Given the description of an element on the screen output the (x, y) to click on. 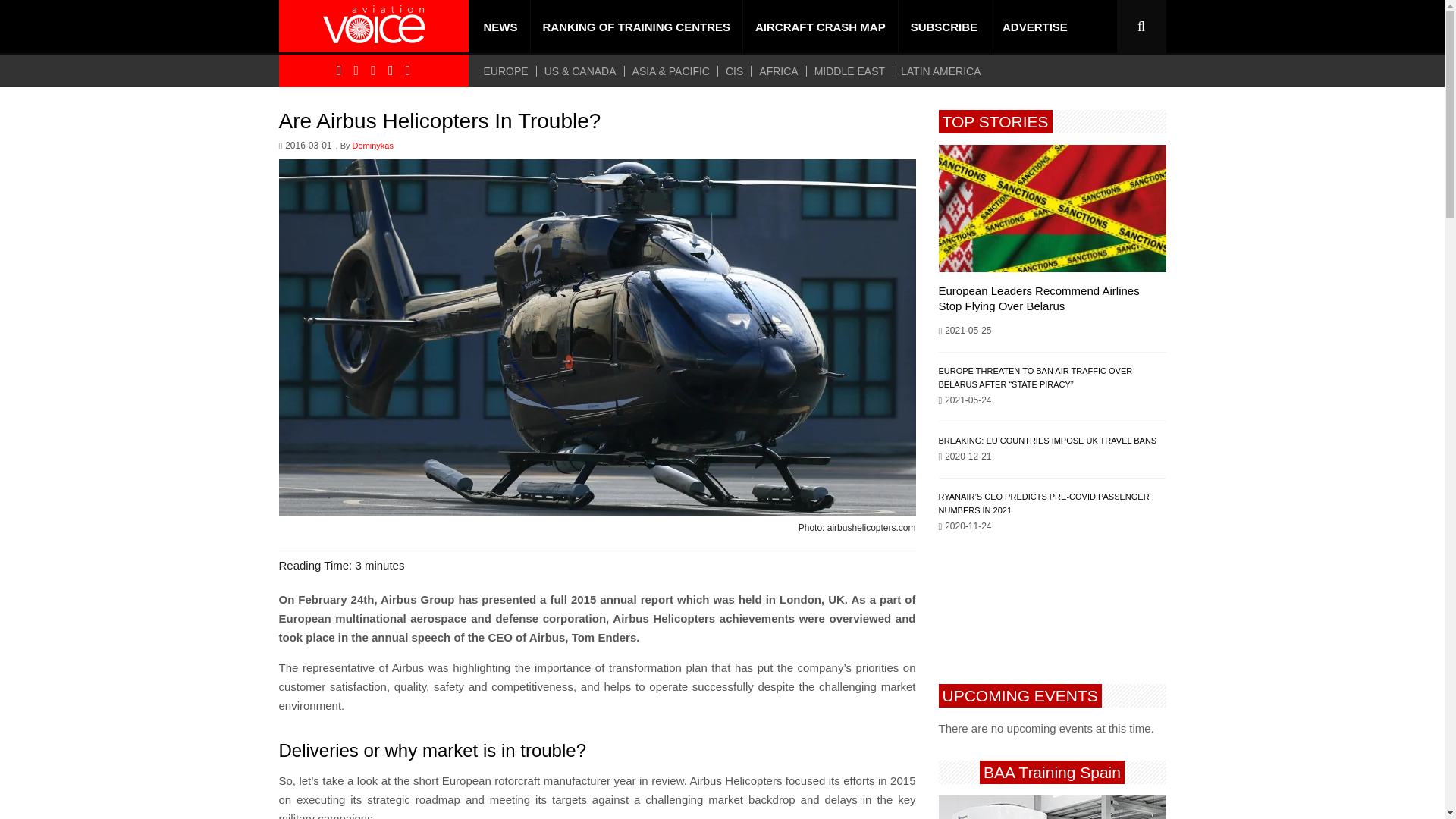
Dominykas (372, 145)
AIRCRAFT CRASH MAP (820, 26)
AFRICA (778, 71)
ADVERTISE (1035, 26)
EUROPE (509, 71)
CIS (734, 71)
SUBSCRIBE (944, 26)
MIDDLE EAST (849, 71)
NEWS (500, 26)
RANKING OF TRAINING CENTRES (636, 26)
